Given the description of an element on the screen output the (x, y) to click on. 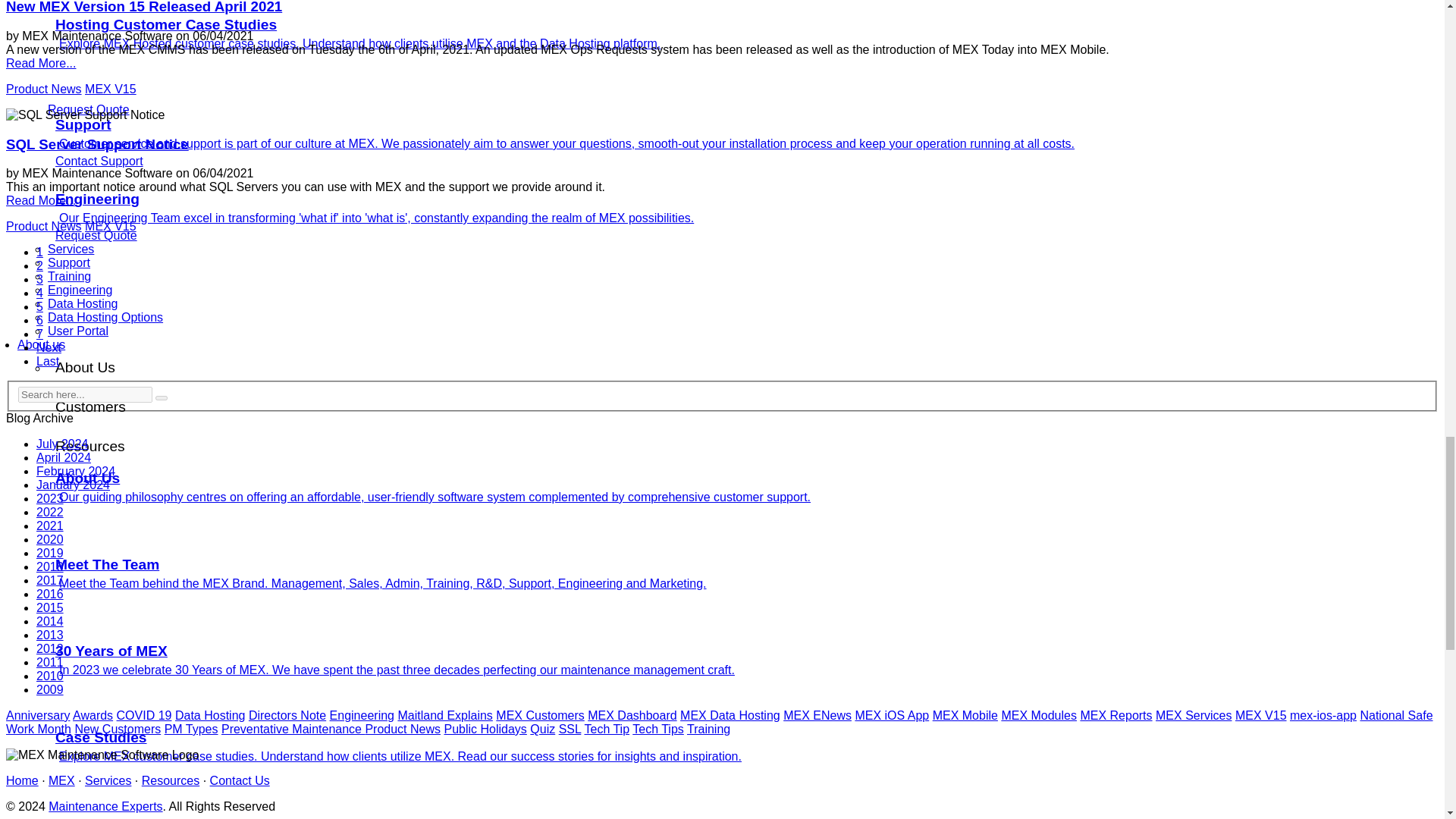
Contact Support (98, 160)
Request Quote (88, 109)
